Given the description of an element on the screen output the (x, y) to click on. 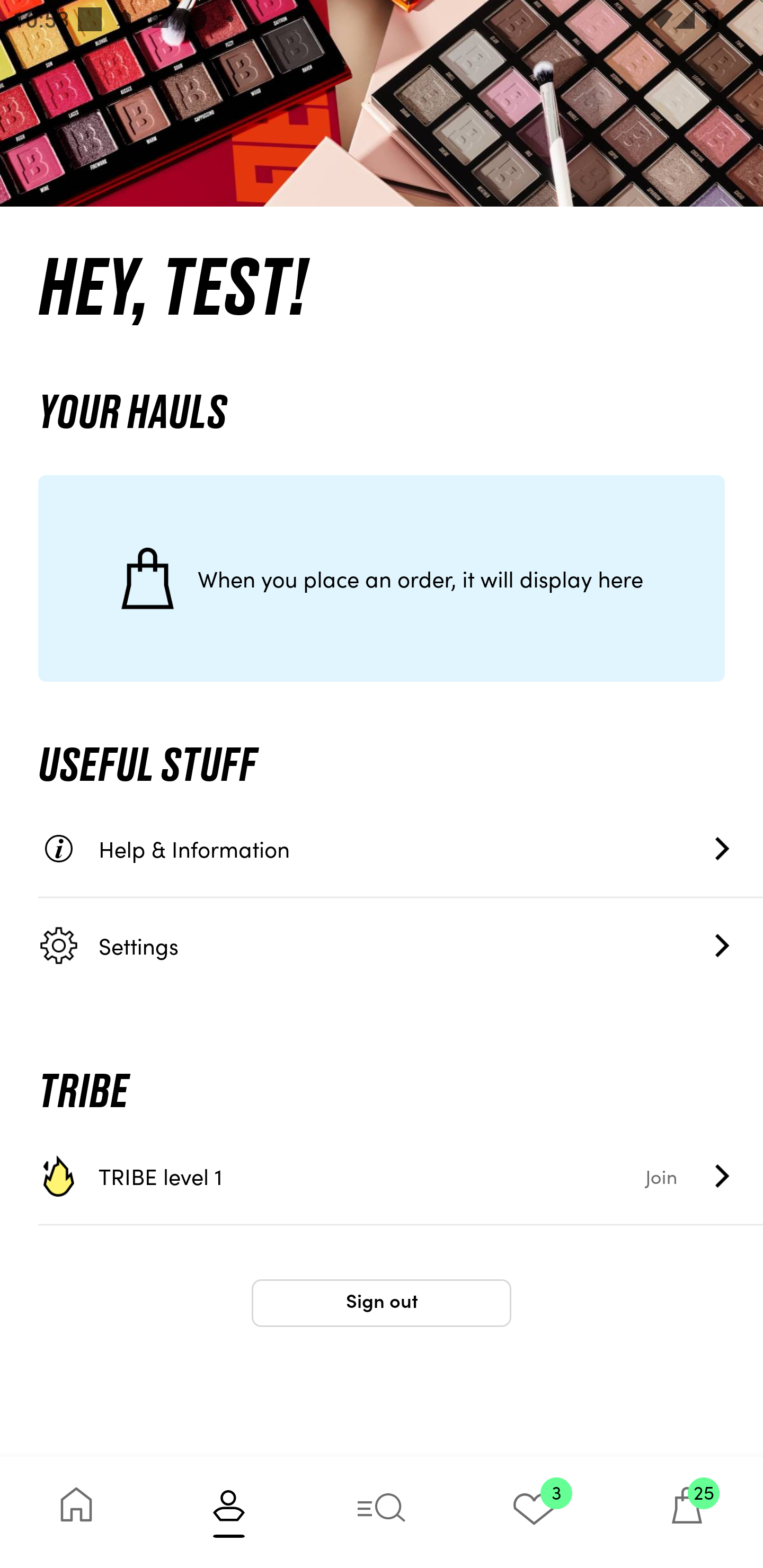
Help & Information (400, 848)
Settings (400, 945)
TRIBE level 1 Join (400, 1175)
Sign out (381, 1302)
3 (533, 1512)
25 (686, 1512)
